Given the description of an element on the screen output the (x, y) to click on. 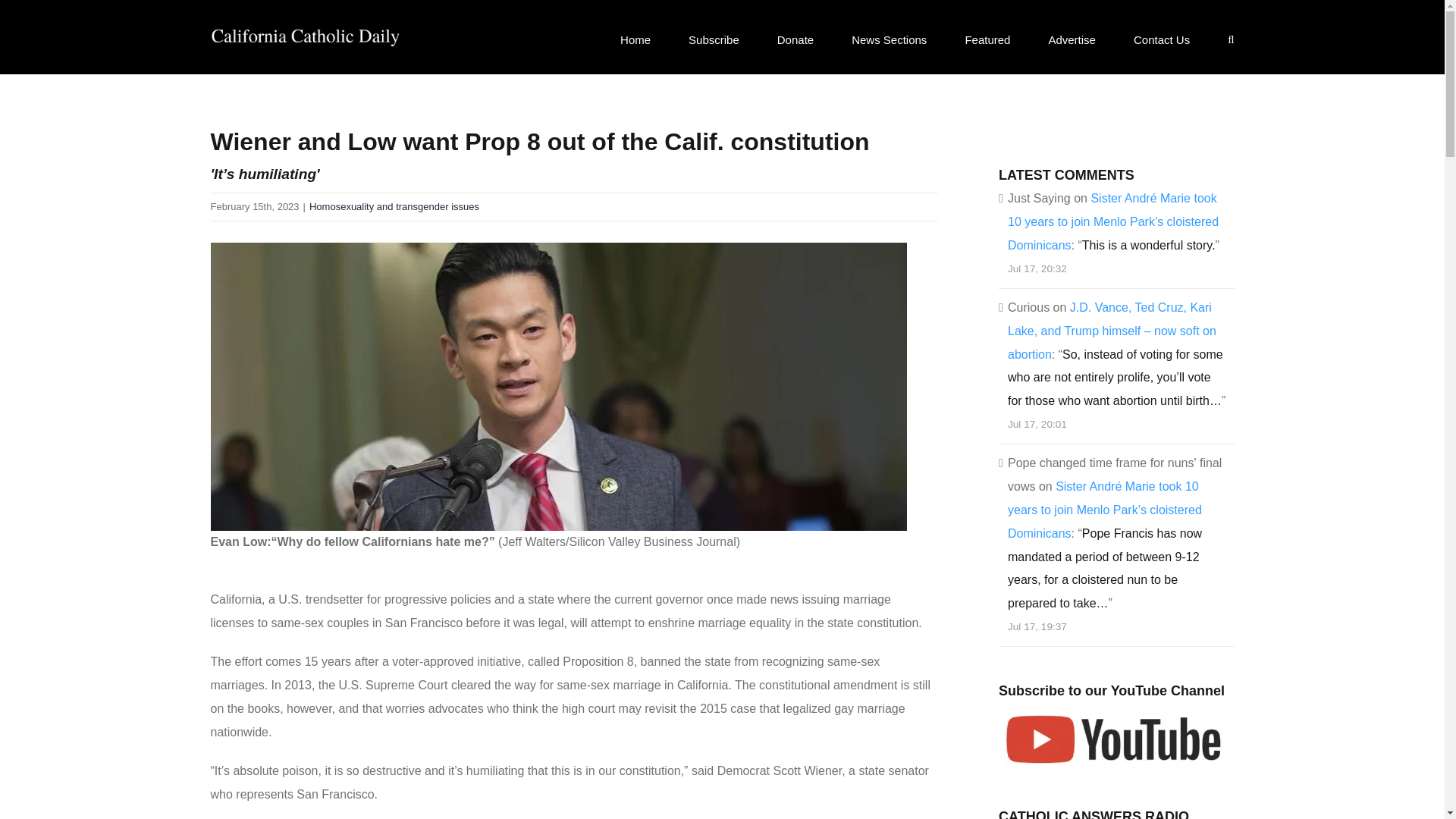
News Sections (888, 39)
